Given the description of an element on the screen output the (x, y) to click on. 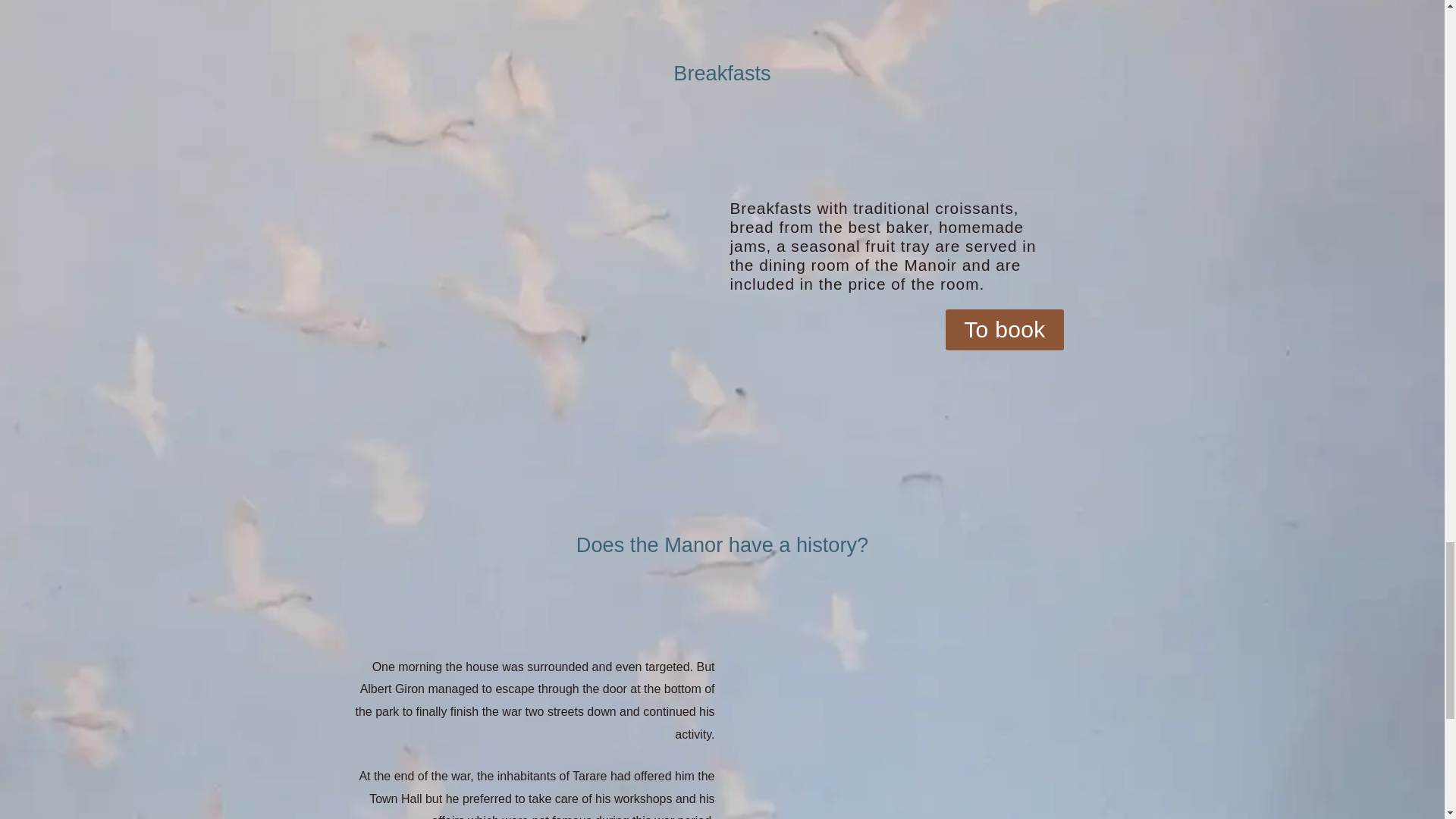
To book (1003, 329)
